Given the description of an element on the screen output the (x, y) to click on. 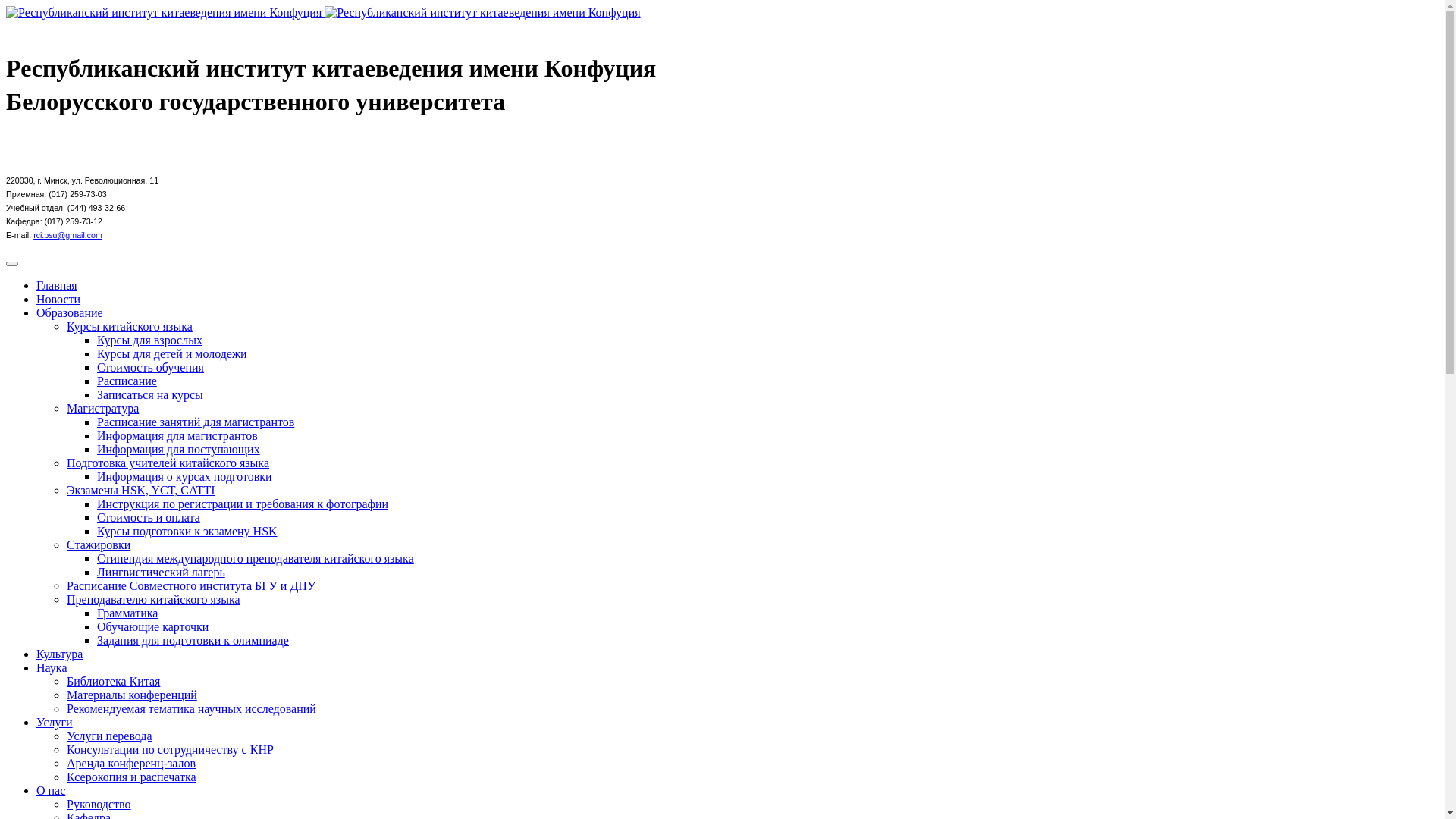
rci.bsu@gmail.com Element type: text (67, 234)
